Given the description of an element on the screen output the (x, y) to click on. 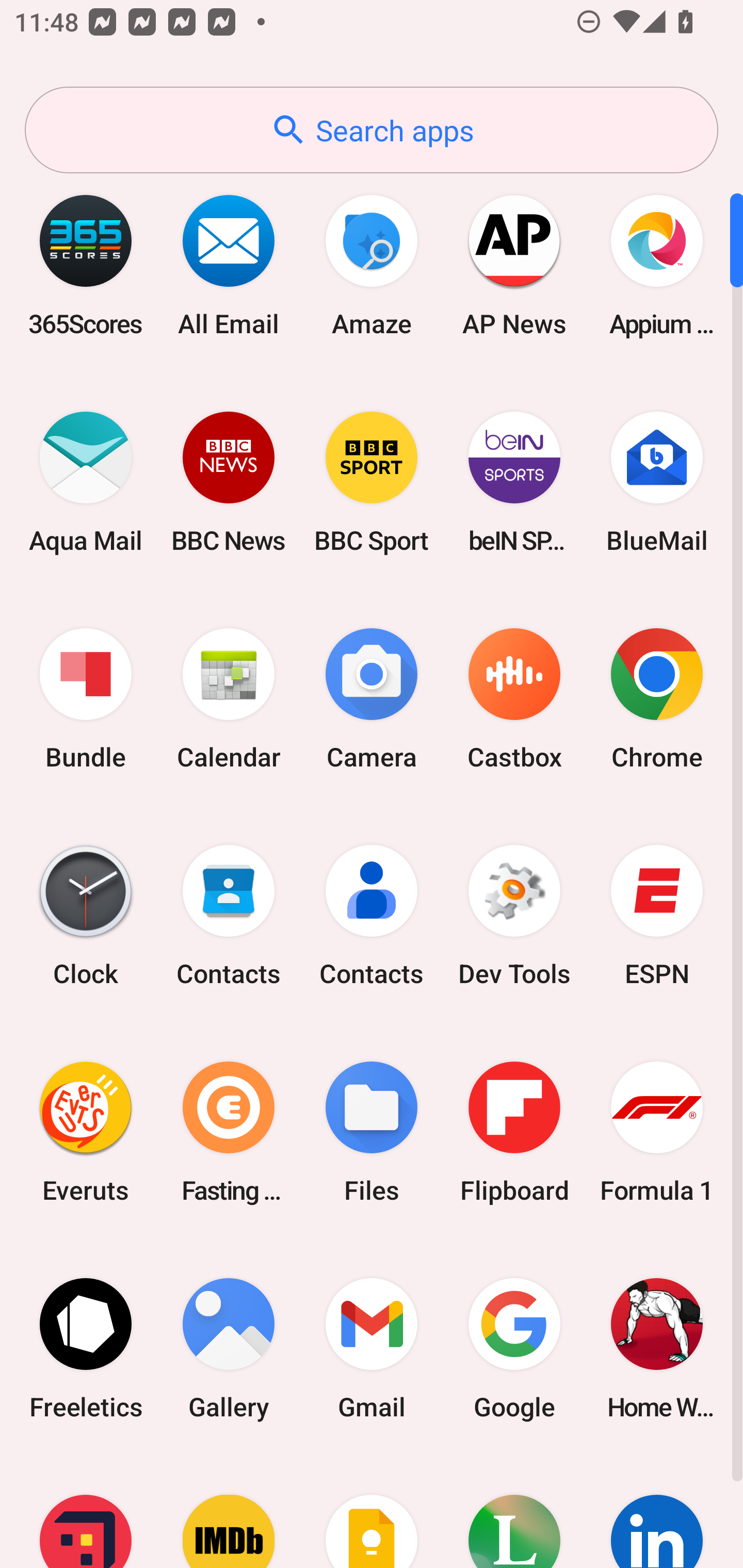
  Search apps (371, 130)
365Scores (85, 264)
All Email (228, 264)
Amaze (371, 264)
AP News (514, 264)
Appium Settings (656, 264)
Aqua Mail (85, 482)
BBC News (228, 482)
BBC Sport (371, 482)
beIN SPORTS (514, 482)
BlueMail (656, 482)
Bundle (85, 699)
Calendar (228, 699)
Camera (371, 699)
Castbox (514, 699)
Chrome (656, 699)
Clock (85, 915)
Contacts (228, 915)
Contacts (371, 915)
Dev Tools (514, 915)
ESPN (656, 915)
Everuts (85, 1131)
Fasting Coach (228, 1131)
Files (371, 1131)
Flipboard (514, 1131)
Formula 1 (656, 1131)
Freeletics (85, 1348)
Gallery (228, 1348)
Gmail (371, 1348)
Google (514, 1348)
Home Workout (656, 1348)
Hotels.com (85, 1512)
IMDb (228, 1512)
Keep Notes (371, 1512)
Lifesum (514, 1512)
LinkedIn (656, 1512)
